Given the description of an element on the screen output the (x, y) to click on. 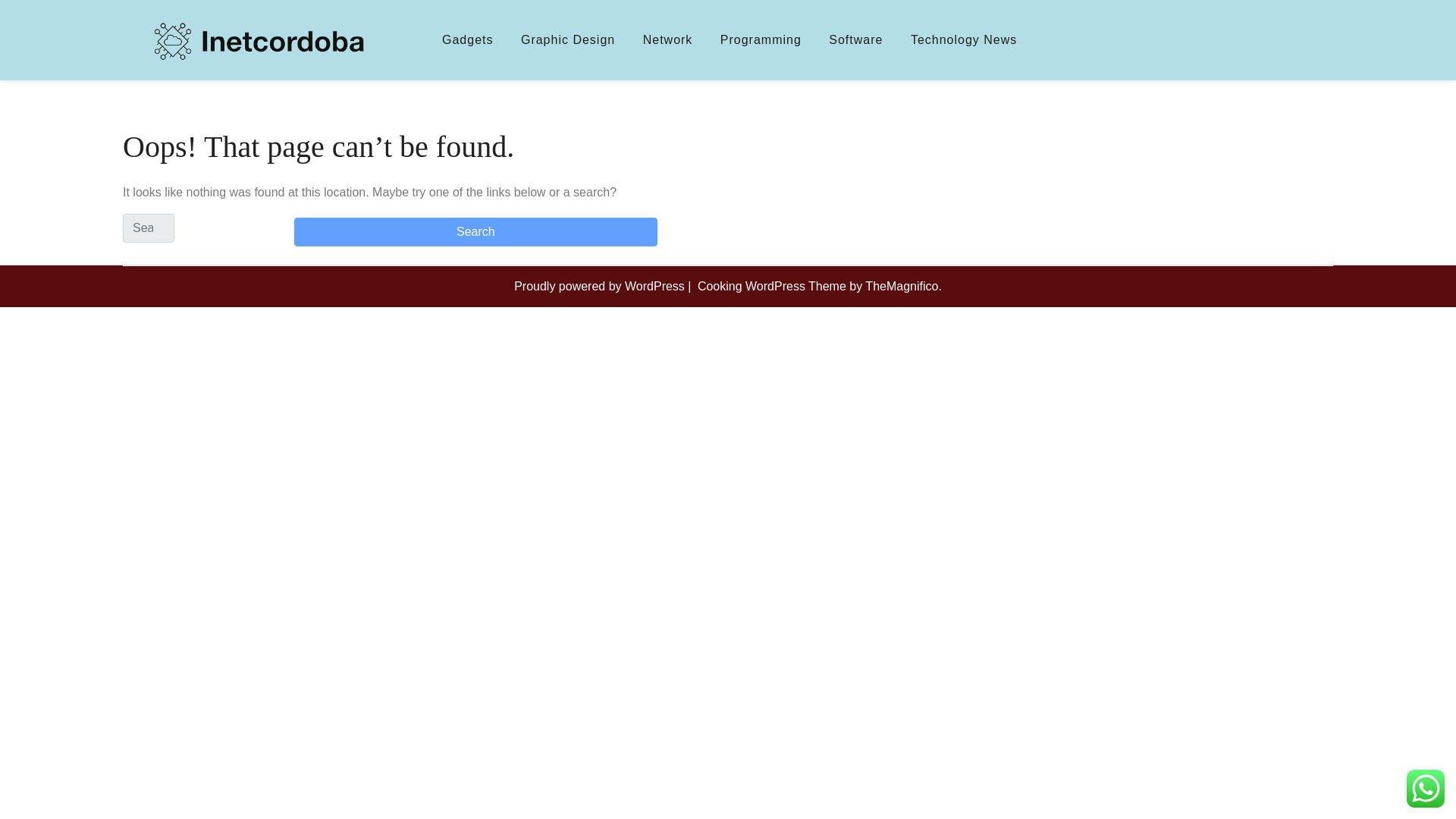
Network (667, 39)
Cooking WordPress Theme (772, 286)
Search (476, 231)
Programming (760, 39)
Search (476, 231)
Search (476, 231)
Gadgets (467, 39)
Technology News (963, 39)
Proudly powered by WordPress (600, 286)
Software (855, 39)
Graphic Design (567, 39)
